Given the description of an element on the screen output the (x, y) to click on. 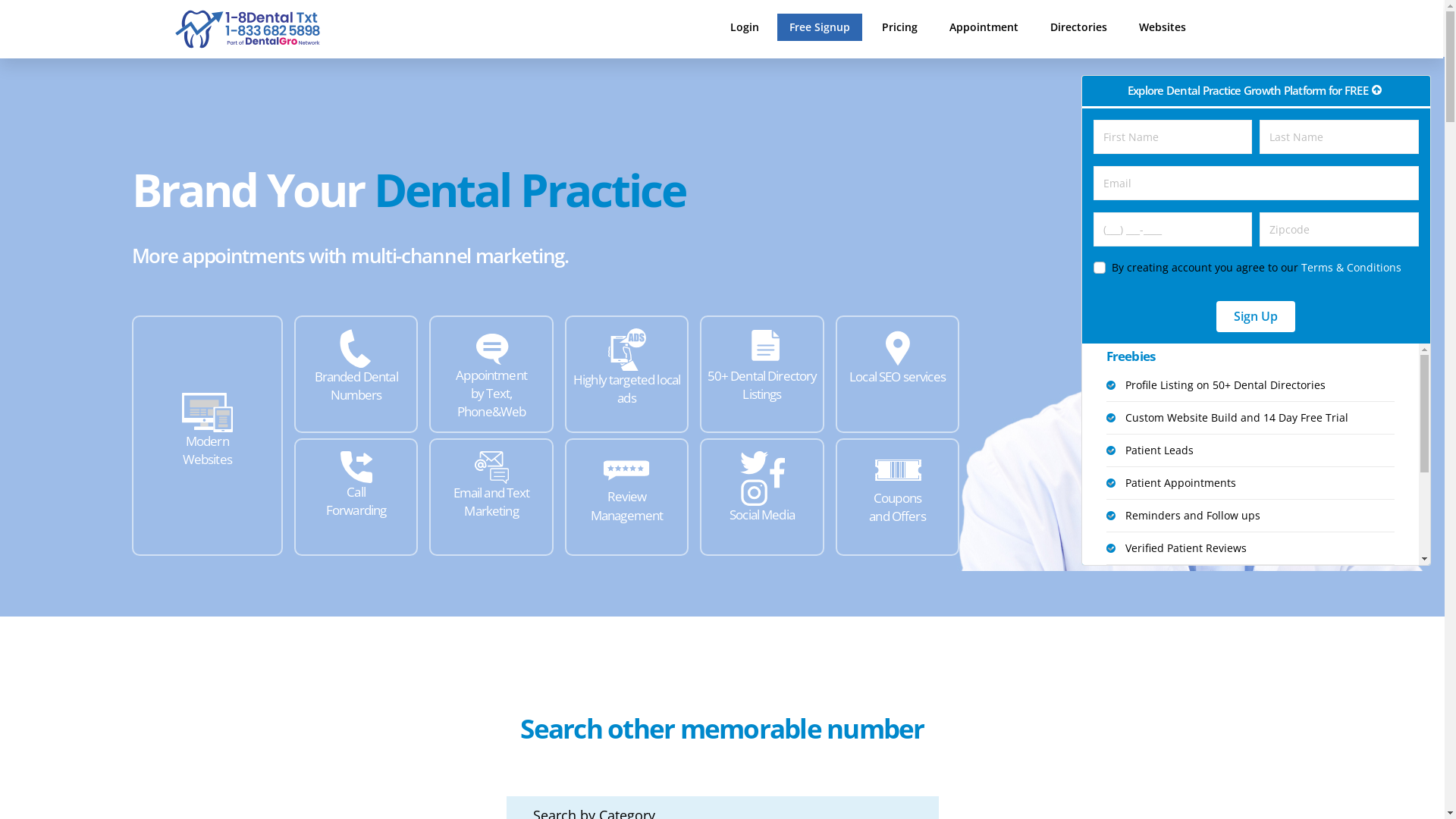
Modern
Websites Element type: text (206, 435)
Login Element type: text (744, 26)
Websites Element type: text (1162, 26)
Branded Dental Numbers Element type: text (355, 374)
Appointment
by Text,
Phone&Web Element type: text (490, 374)
Social Media Element type: text (761, 496)
Sign Up Element type: text (1255, 316)
Local SEO services Element type: text (897, 374)
Highly targeted local ads Element type: text (626, 374)
50+ Dental Directory Listings Element type: text (761, 374)
Call
Forwarding Element type: text (355, 496)
Email and Text Marketing Element type: text (490, 496)
Free Signup Element type: text (819, 26)
Coupons
and Offers Element type: text (897, 496)
Directories Element type: text (1078, 26)
Terms & Conditions Element type: text (1351, 267)
Explore Dental Practice Growth Platform for FREE Element type: text (1255, 90)
Pricing Element type: text (899, 26)
Review Management Element type: text (626, 496)
Appointment Element type: text (983, 26)
